Given the description of an element on the screen output the (x, y) to click on. 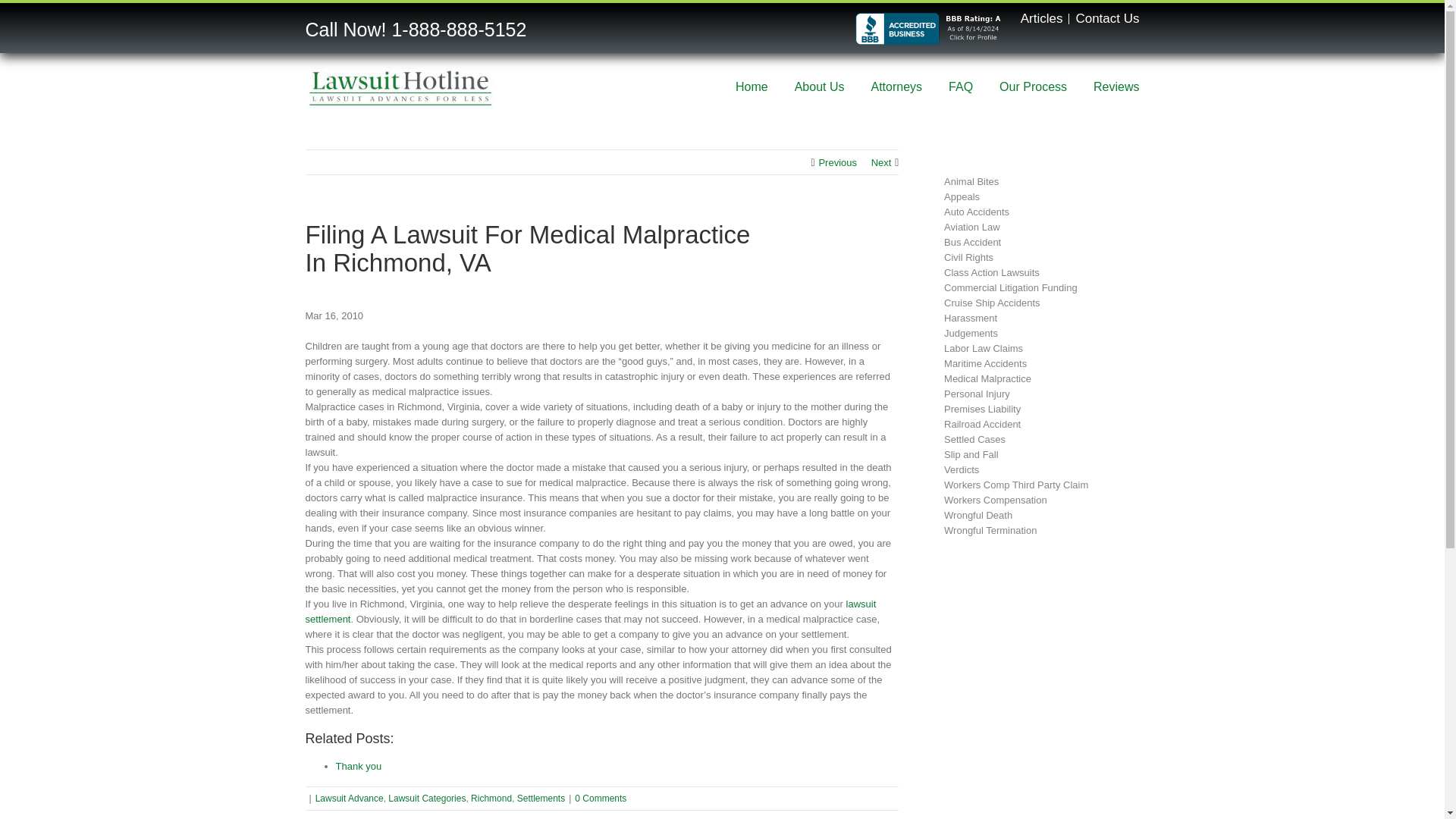
Our Process (1032, 85)
Richmond (491, 798)
Appeals (961, 196)
Contact Us (1106, 18)
Lawsuit Categories (426, 798)
Auto Accidents (976, 211)
0 Comments (600, 798)
Previous (837, 162)
Aviation Law (970, 226)
1-888-888-5152 (458, 29)
